Given the description of an element on the screen output the (x, y) to click on. 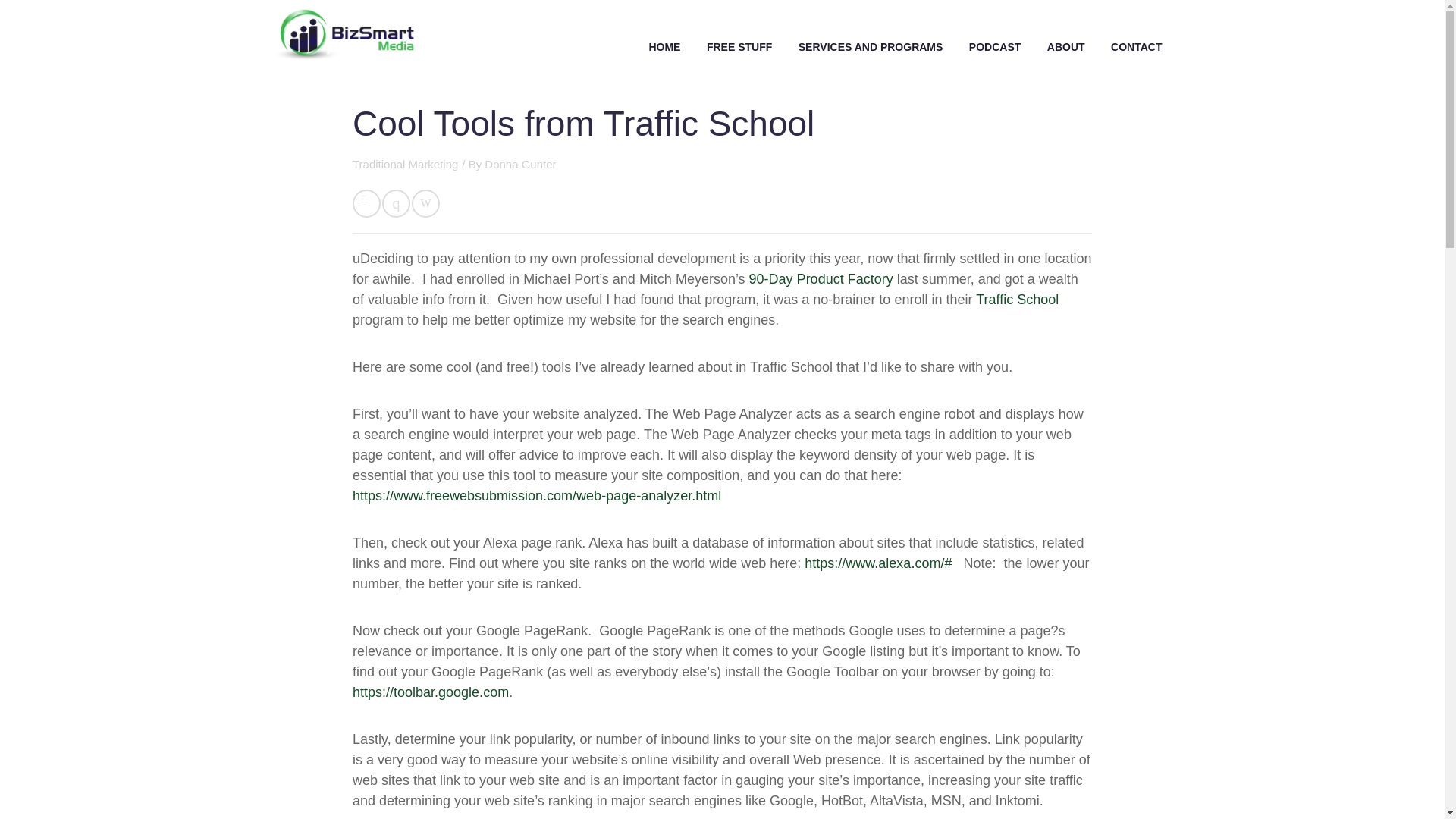
CONTACT (1135, 46)
Donna Gunter (520, 164)
Traditional Marketing (405, 164)
FREE STUFF (738, 46)
PODCAST (994, 46)
Traffic School (1016, 299)
90-Day Product Factory (821, 278)
ABOUT (1065, 46)
HOME (663, 46)
SERVICES AND PROGRAMS (870, 46)
